Given the description of an element on the screen output the (x, y) to click on. 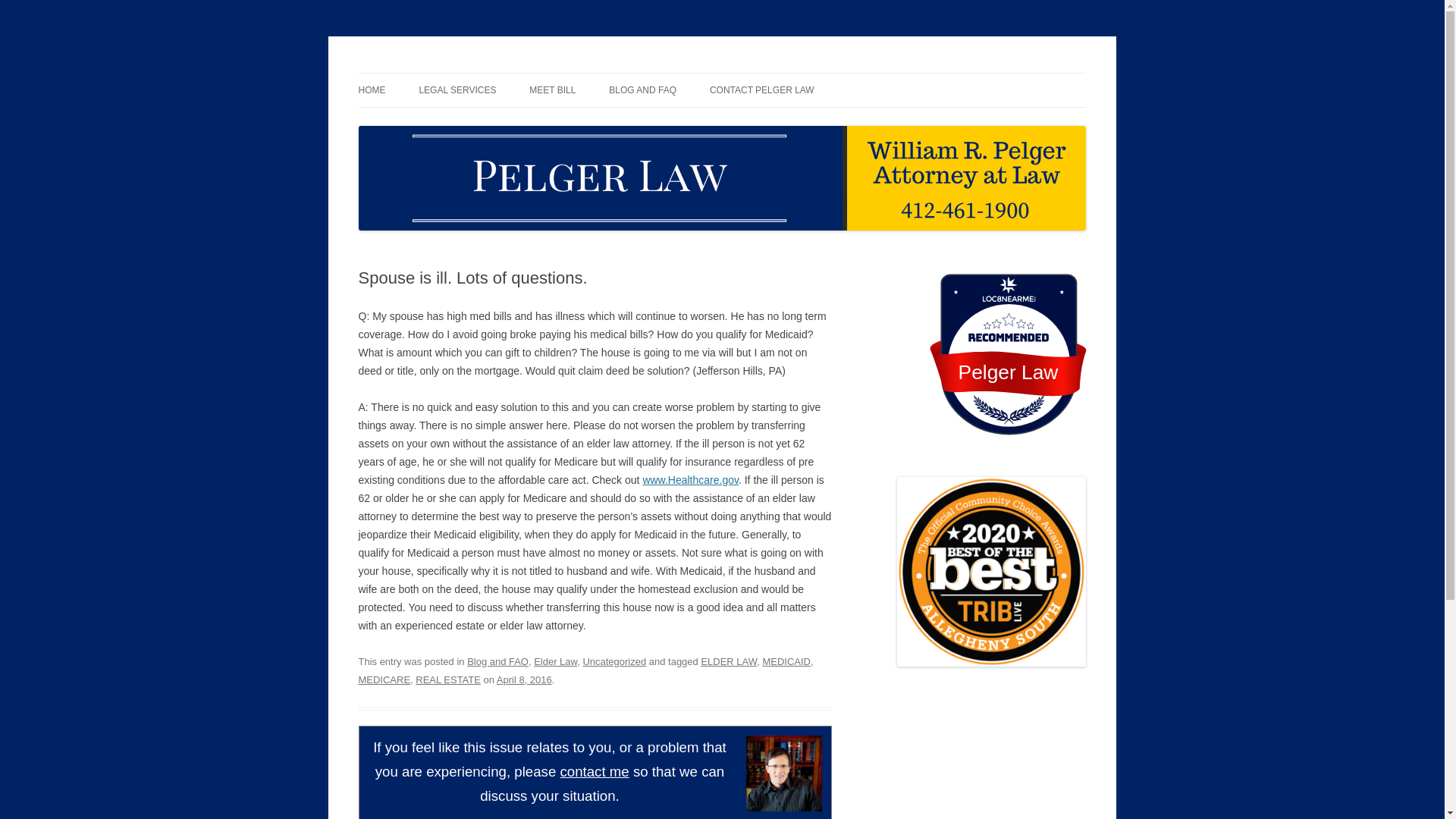
MEET BILL (552, 90)
BLOG AND FAQ (642, 90)
CRIMINAL LAW (494, 122)
contact me (593, 771)
CONTACT PELGER LAW (761, 90)
MEDICAID (785, 661)
4:32 pm (523, 679)
LEGAL SERVICES (457, 90)
Blog and FAQ (497, 661)
April 8, 2016 (523, 679)
